Given the description of an element on the screen output the (x, y) to click on. 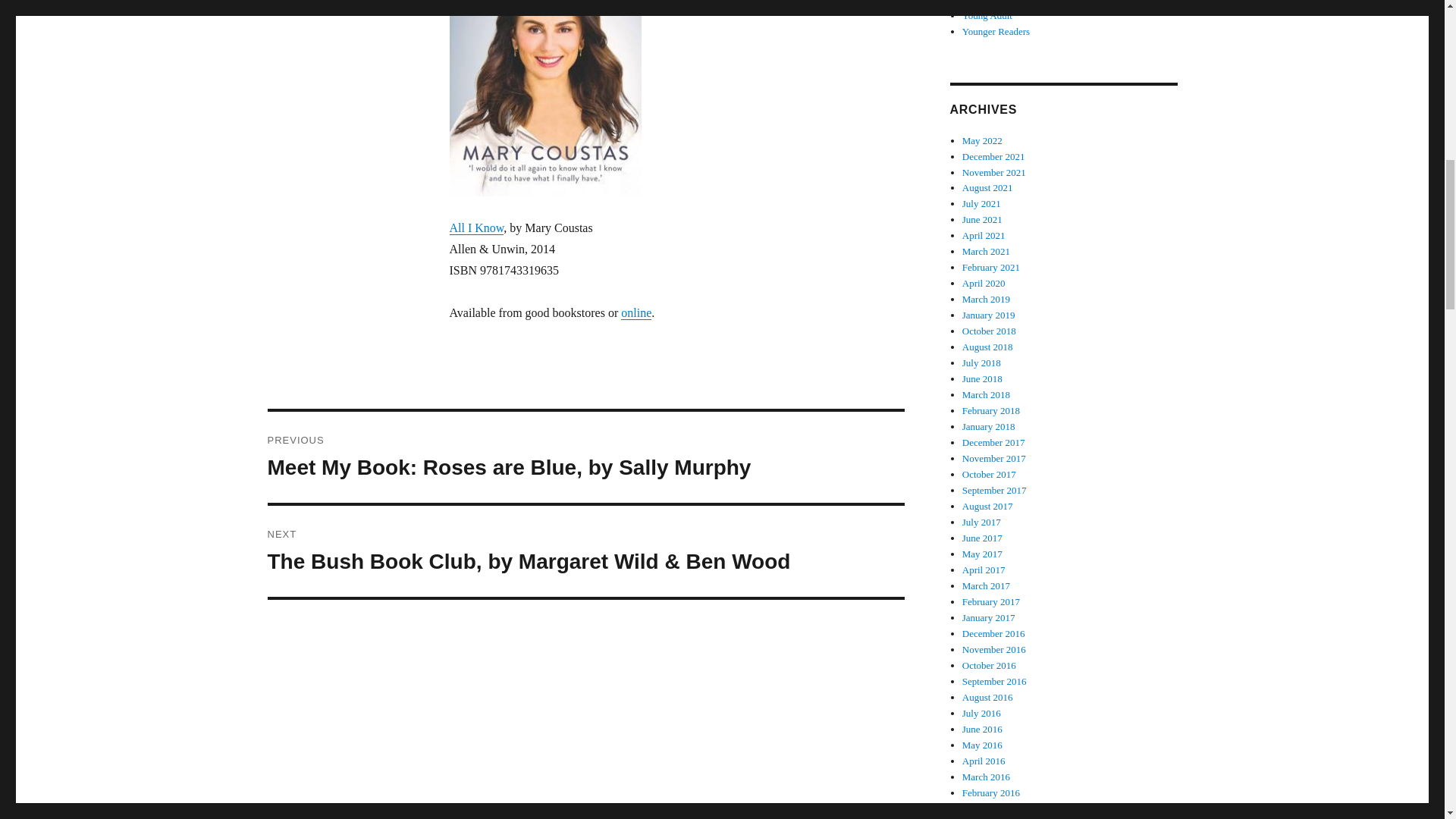
August 2021 (987, 187)
June 2021 (982, 219)
 All I Know  (544, 98)
July 2021 (981, 203)
March 2021 (986, 251)
Younger Readers (995, 30)
online (635, 312)
November 2021 (994, 172)
April 2021 (984, 235)
All I Know (475, 227)
Young Adult (986, 15)
December 2021 (993, 156)
Uncategorised (990, 2)
May 2022 (982, 140)
